Given the description of an element on the screen output the (x, y) to click on. 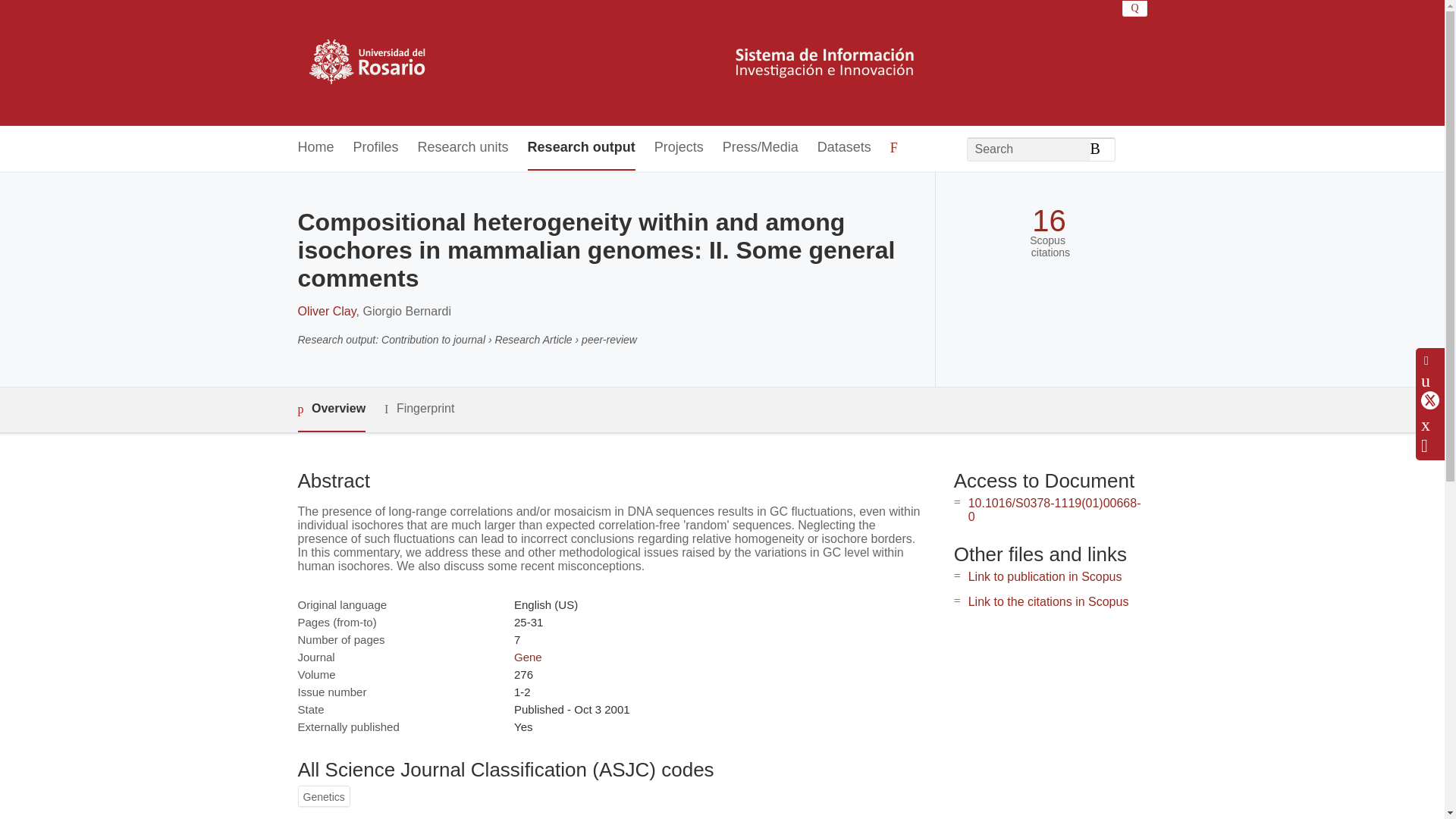
16 (1048, 221)
Profiles (375, 148)
Datasets (843, 148)
Overview (331, 409)
Research units (462, 148)
Home (315, 148)
Link to publication in Scopus (1045, 576)
Research output (580, 148)
Fingerprint (419, 408)
Universidad del Rosario Home (615, 62)
Projects (678, 148)
Oliver Clay (326, 310)
Gene (527, 656)
Link to the citations in Scopus (1048, 601)
